Given the description of an element on the screen output the (x, y) to click on. 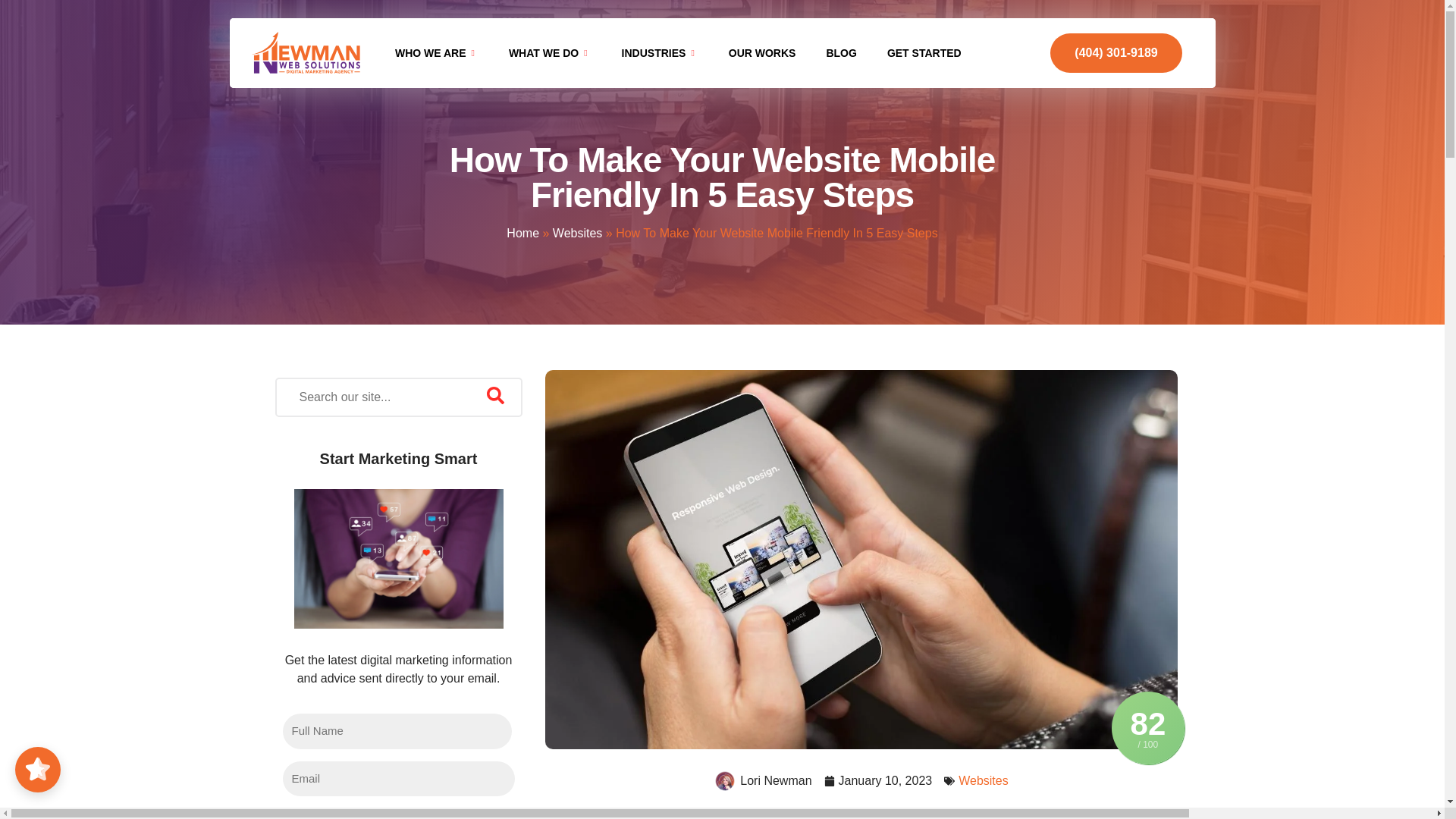
Home (522, 232)
Websites (577, 232)
INDUSTRIES (660, 52)
Sign Up! (397, 816)
BLOG (840, 52)
WHO WE ARE (436, 52)
Sign Up! (397, 816)
WHAT WE DO (550, 52)
GET STARTED (924, 52)
OUR WORKS (761, 52)
